Given the description of an element on the screen output the (x, y) to click on. 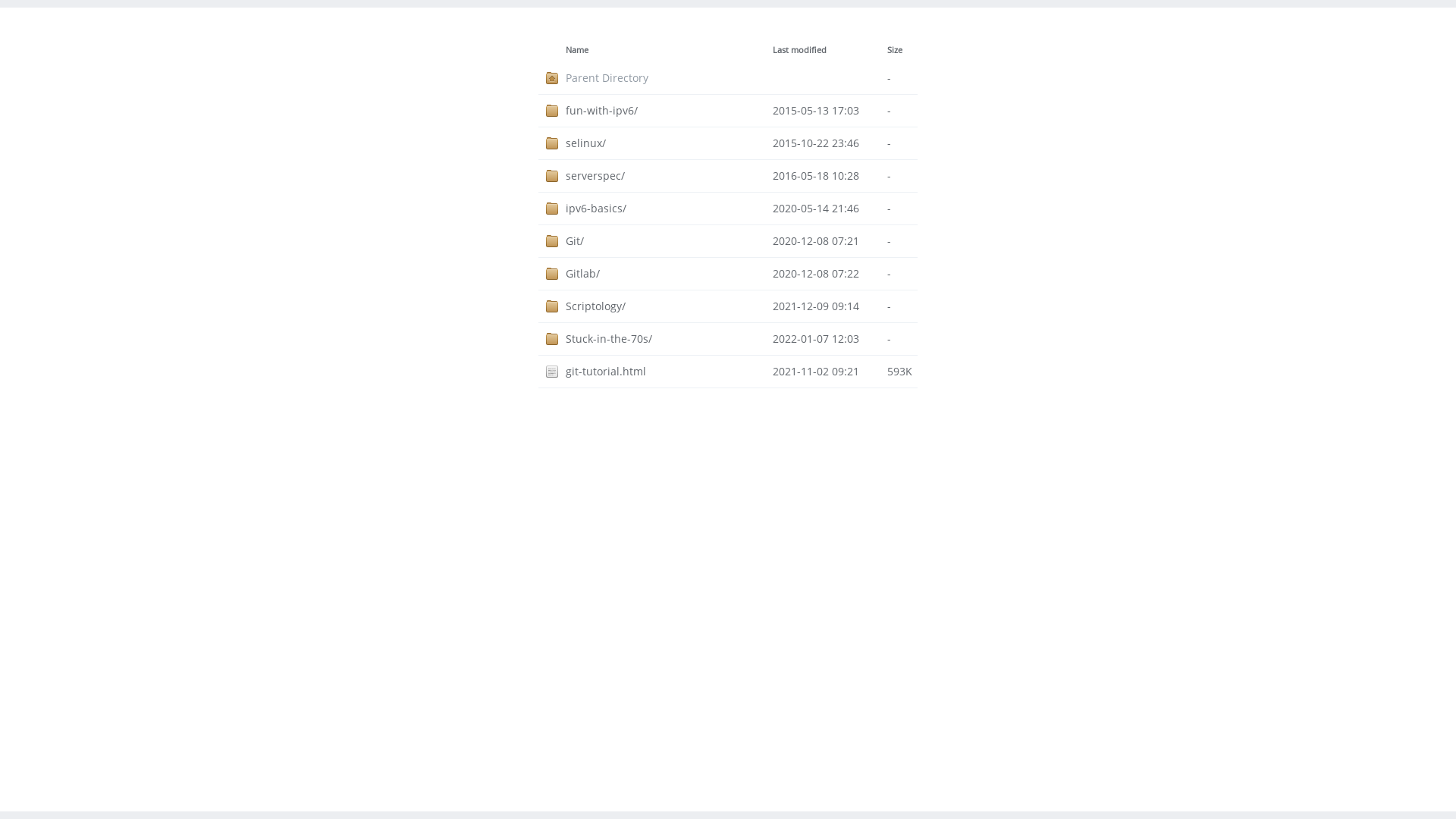
fun-with-ipv6/ Element type: text (668, 110)
Scriptology/ Element type: text (668, 306)
selinux/ Element type: text (668, 143)
Stuck-in-the-70s/ Element type: text (668, 338)
ipv6-basics/ Element type: text (668, 208)
serverspec/ Element type: text (668, 175)
Size Element type: text (894, 49)
Parent Directory Element type: text (668, 77)
git-tutorial.html Element type: text (668, 371)
Name Element type: text (576, 49)
Last modified Element type: text (799, 49)
Gitlab/ Element type: text (668, 273)
Git/ Element type: text (668, 241)
